Given the description of an element on the screen output the (x, y) to click on. 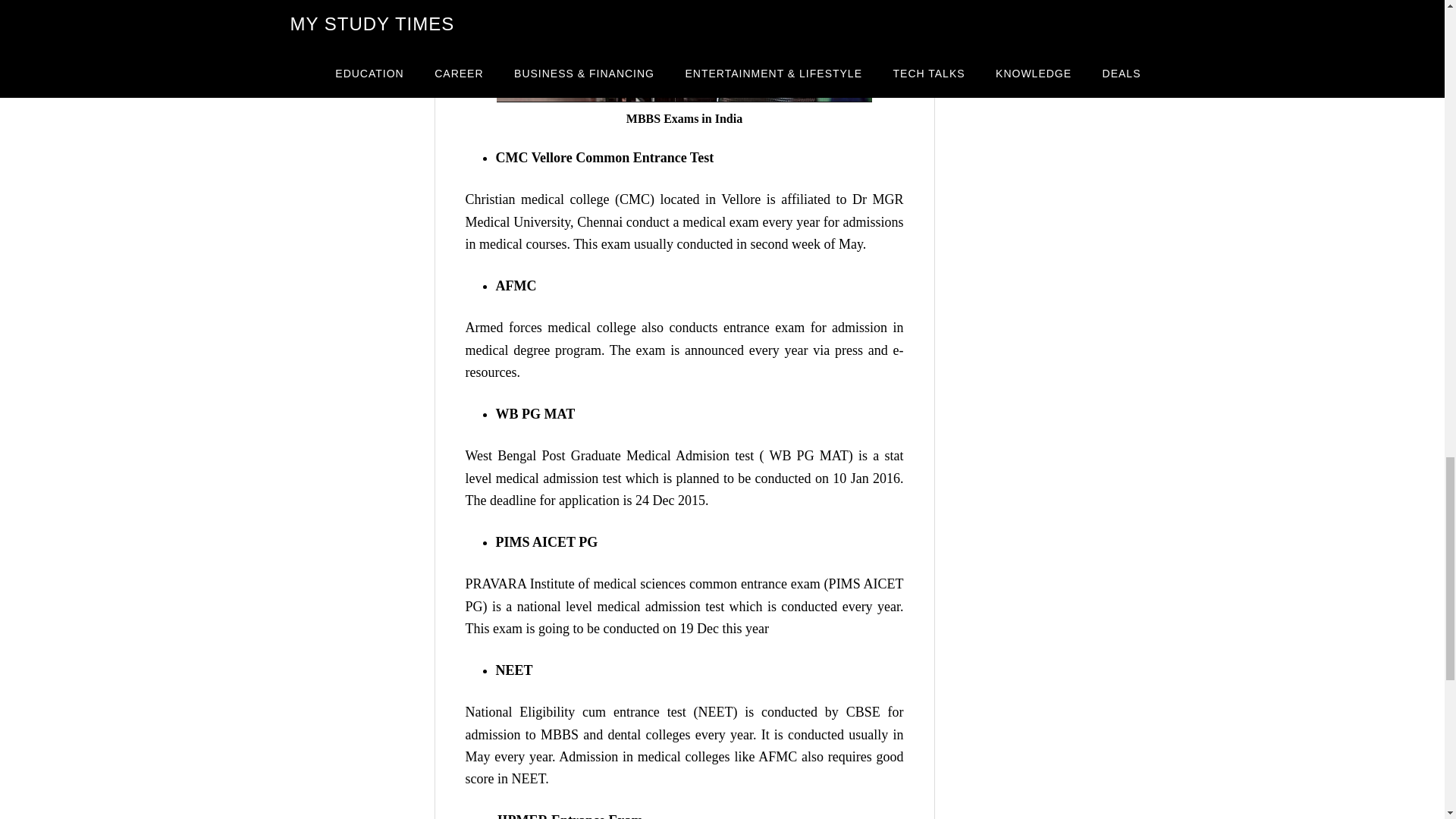
Exams for MBBS in India - Detailed List 2 (684, 51)
